Given the description of an element on the screen output the (x, y) to click on. 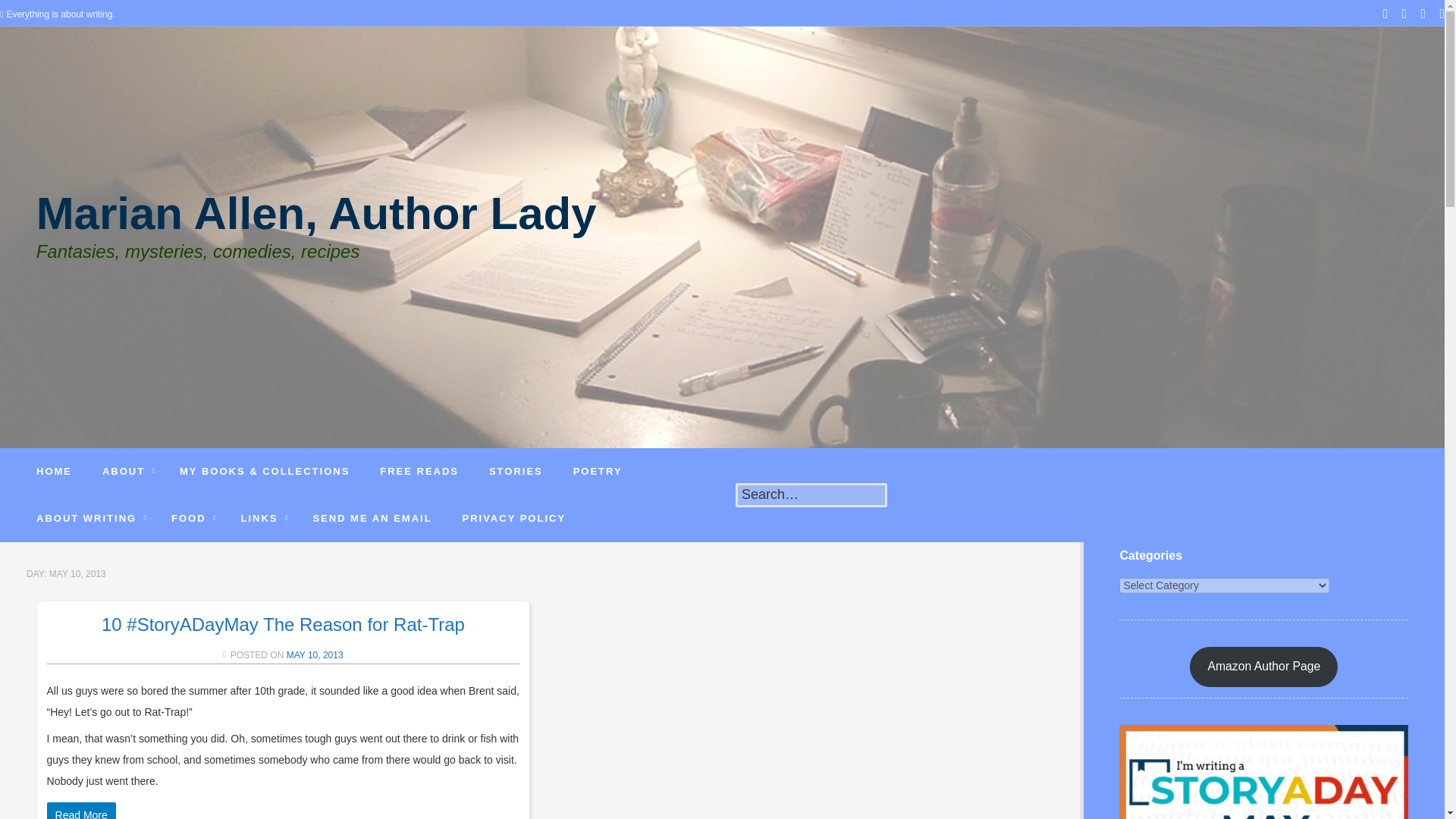
HOME (54, 471)
7:33 am (314, 655)
Marian Allen, Author Lady (316, 224)
ABOUT (125, 471)
